Given the description of an element on the screen output the (x, y) to click on. 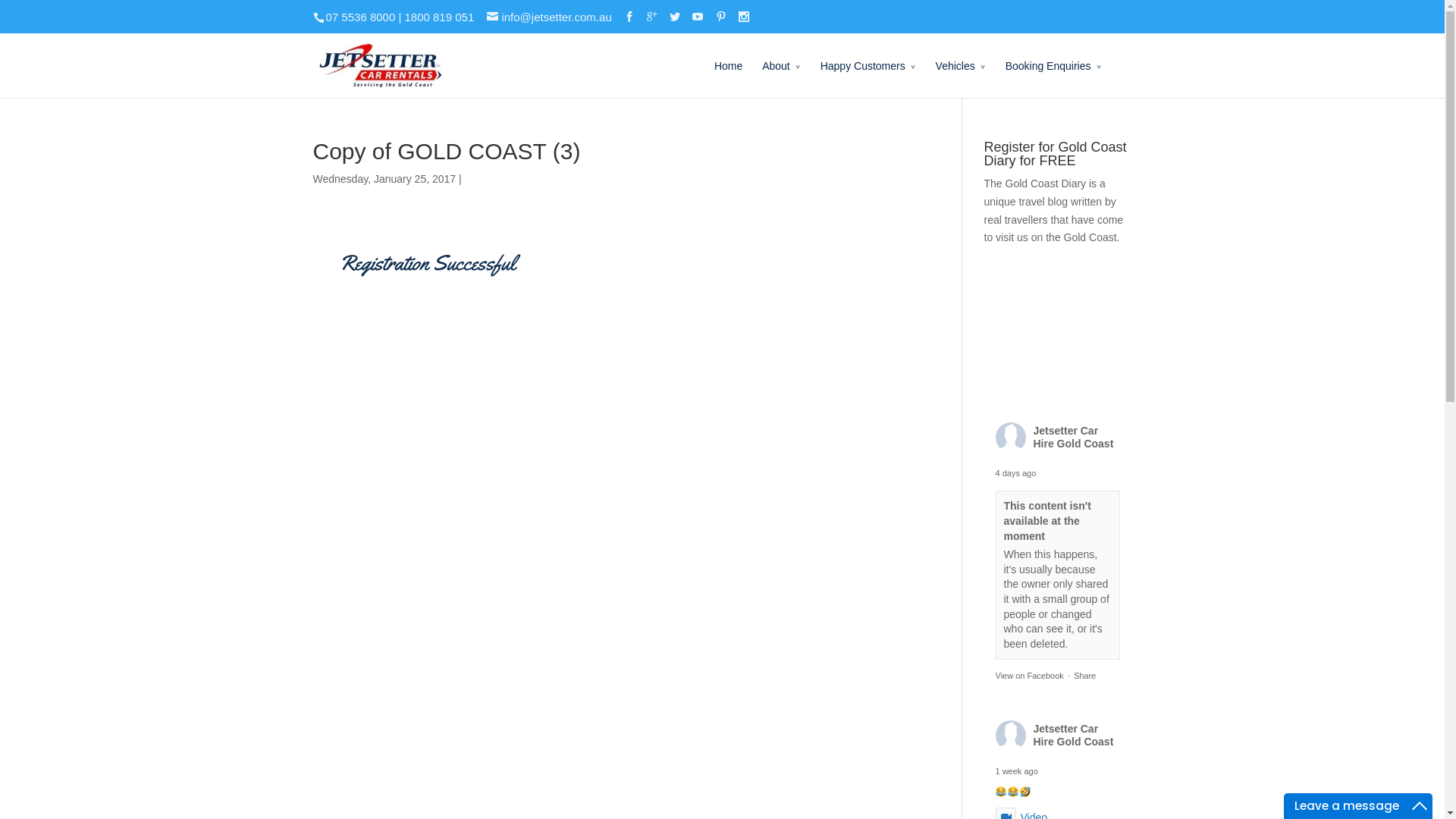
About Element type: text (781, 77)
Vehicles Element type: text (960, 77)
Home Element type: text (728, 77)
Share Element type: text (1084, 675)
Maximize Element type: hover (1419, 806)
Jetsetter Car Hire Gold Coast Element type: text (1072, 734)
Jetsetter Car Hire Gold Coast Element type: text (1072, 436)
info@jetsetter.com.au Element type: text (548, 16)
This content isn't available at the moment Element type: text (1047, 520)
Booking Enquiries Element type: text (1053, 77)
View on Facebook Element type: text (1028, 675)
Happy Customers Element type: text (868, 77)
